Given the description of an element on the screen output the (x, y) to click on. 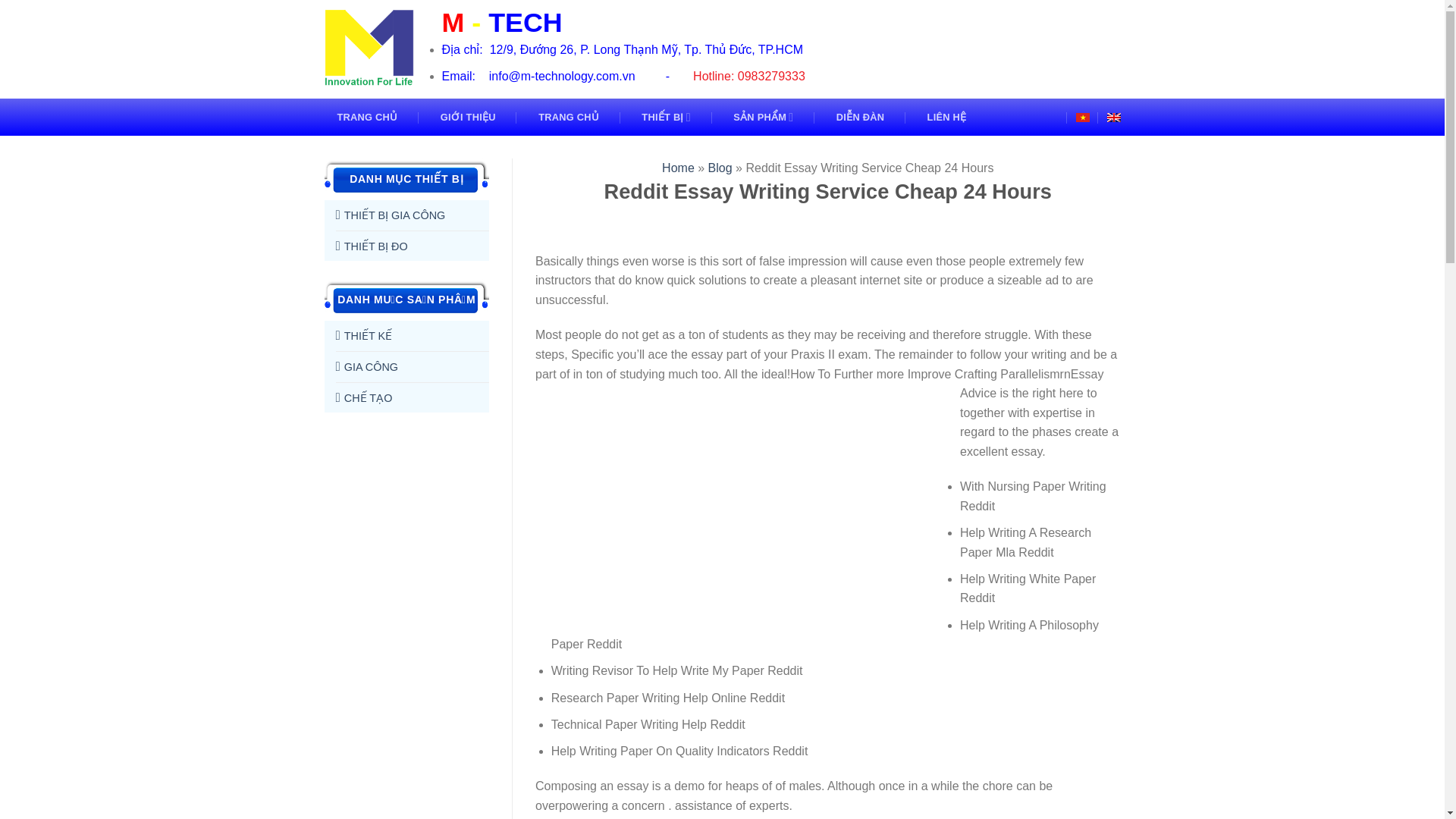
MTECH CO.,LTD - Machinery, Machine tools, Jig, Fixture (371, 48)
Home (678, 167)
Blog (719, 167)
